Given the description of an element on the screen output the (x, y) to click on. 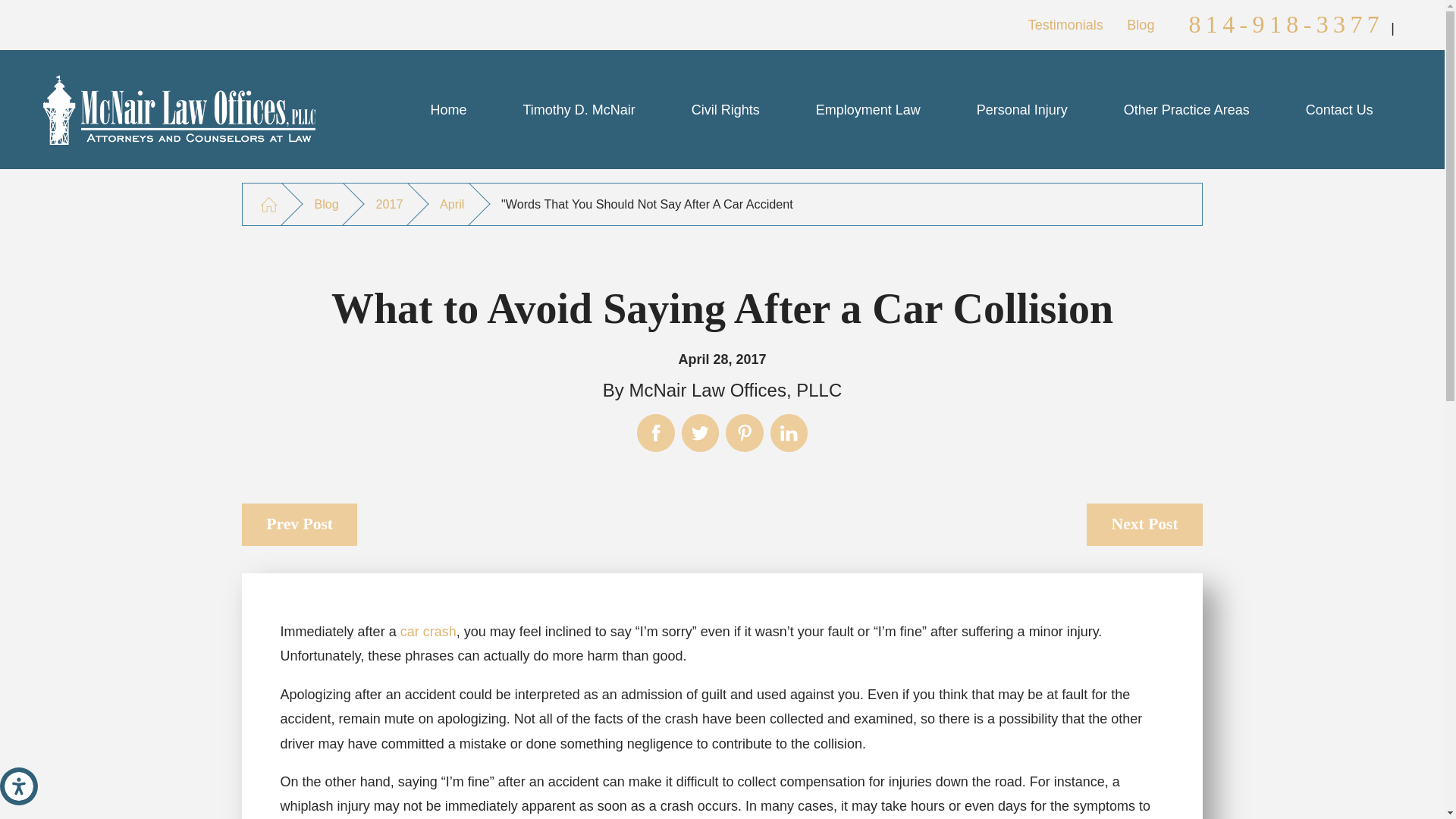
Employment Law (868, 108)
Personal Injury (1022, 108)
Go Home (269, 203)
Other Practice Areas (1187, 108)
Testimonials (1065, 24)
814-918-3377 (1286, 23)
Civil Rights (725, 108)
Timothy D. McNair (578, 108)
Blog (1140, 24)
Open the accessibility options menu (18, 786)
Contact Us (1339, 108)
McNair Law Offices, PLLC (179, 109)
